Given the description of an element on the screen output the (x, y) to click on. 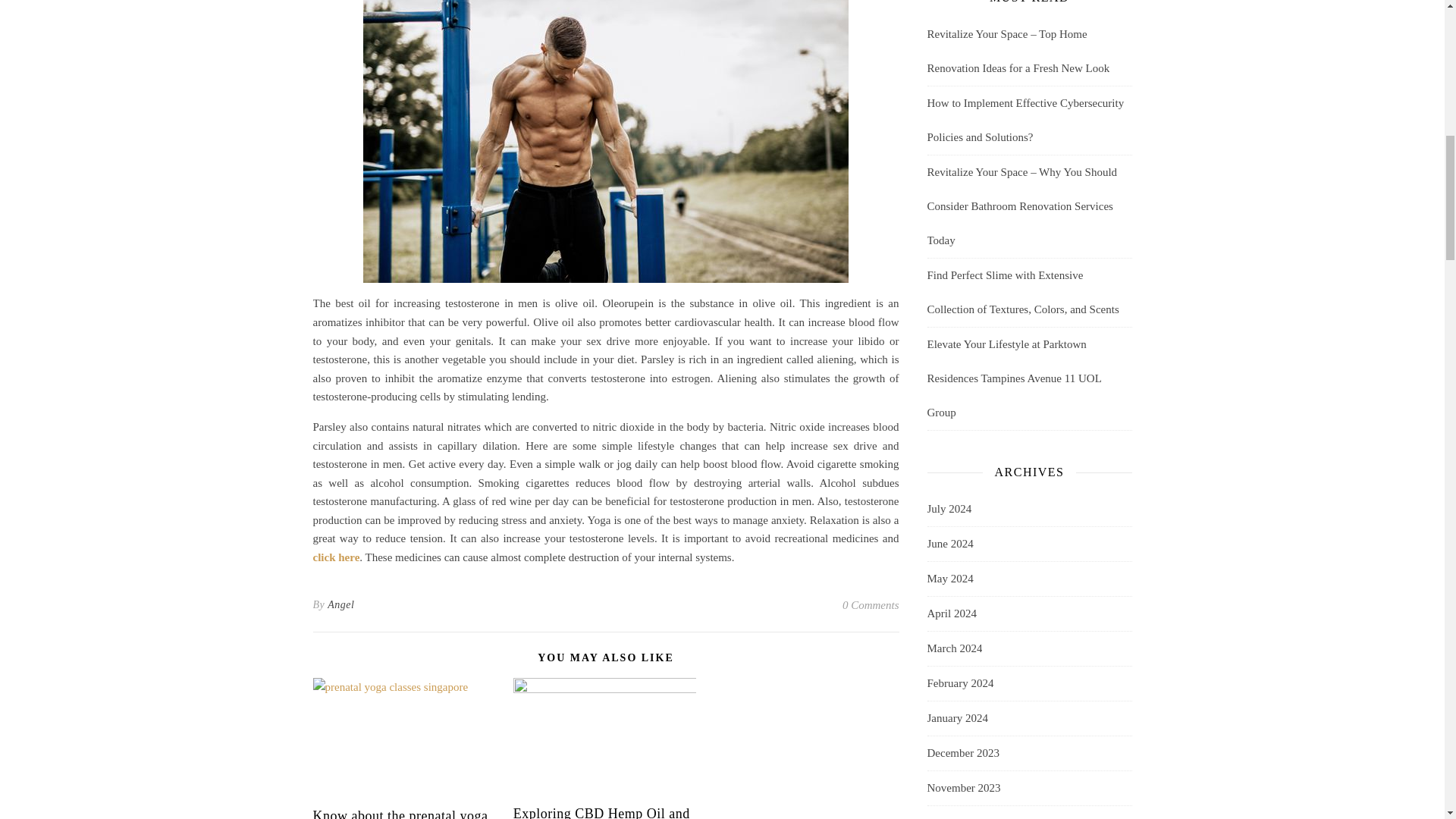
Posts by Angel (340, 604)
